Given the description of an element on the screen output the (x, y) to click on. 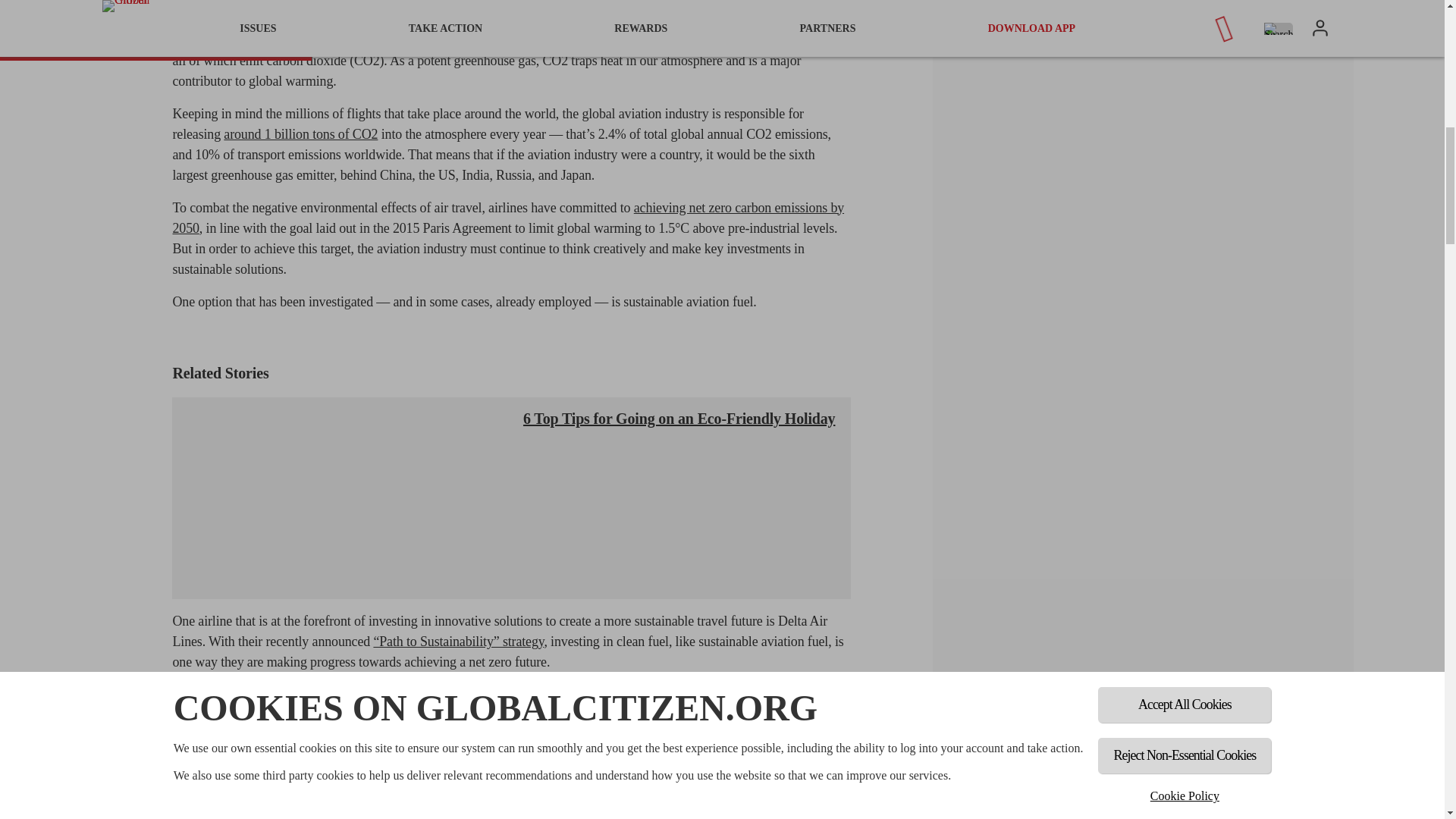
6 Top Tips for Going on an Eco-Friendly Holiday (678, 418)
6 Top Tips for Going on an Eco-Friendly Holiday (341, 498)
around 1 billion tons of CO2 (300, 133)
